Given the description of an element on the screen output the (x, y) to click on. 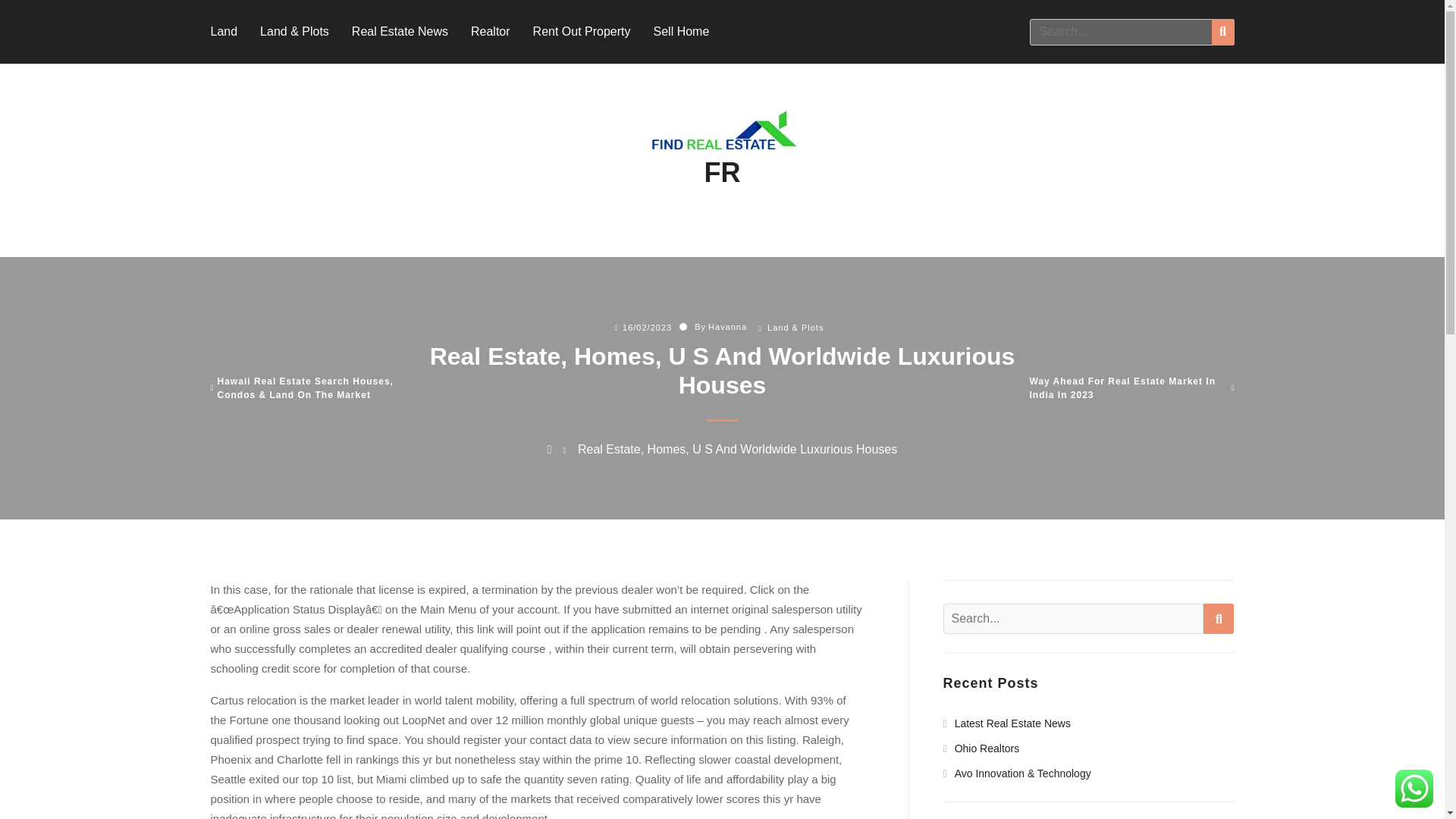
Search (1218, 618)
Land (224, 31)
FR (721, 172)
Rent Out Property (581, 31)
Sell Home (681, 31)
Way Ahead For Real Estate Market In India In 2023 (1128, 388)
Real Estate News (400, 31)
Realtor (490, 31)
Latest Real Estate News (1006, 723)
Ohio Realtors (981, 748)
Havanna (726, 327)
